Given the description of an element on the screen output the (x, y) to click on. 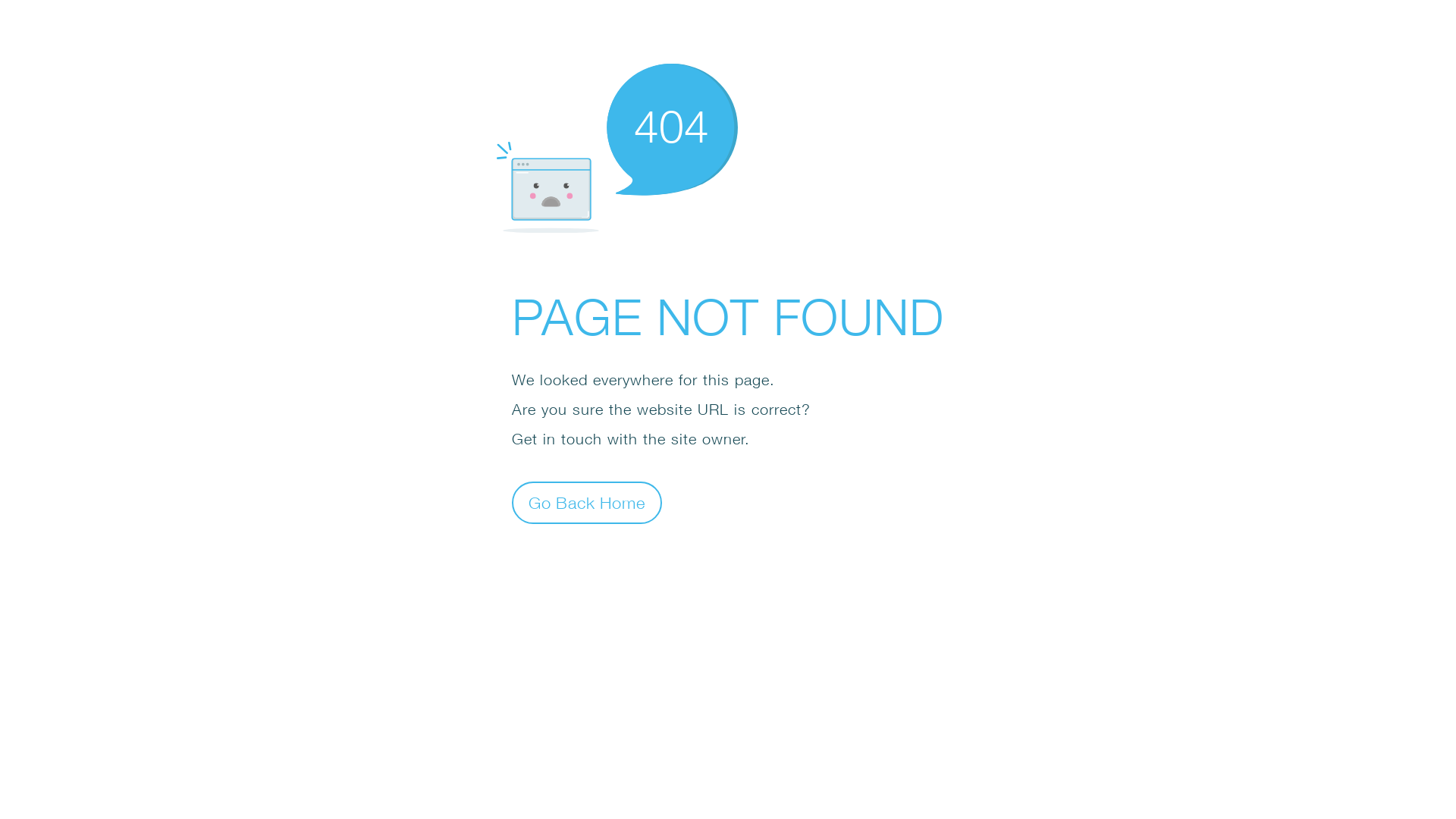
Go Back Home Element type: text (586, 502)
